Given the description of an element on the screen output the (x, y) to click on. 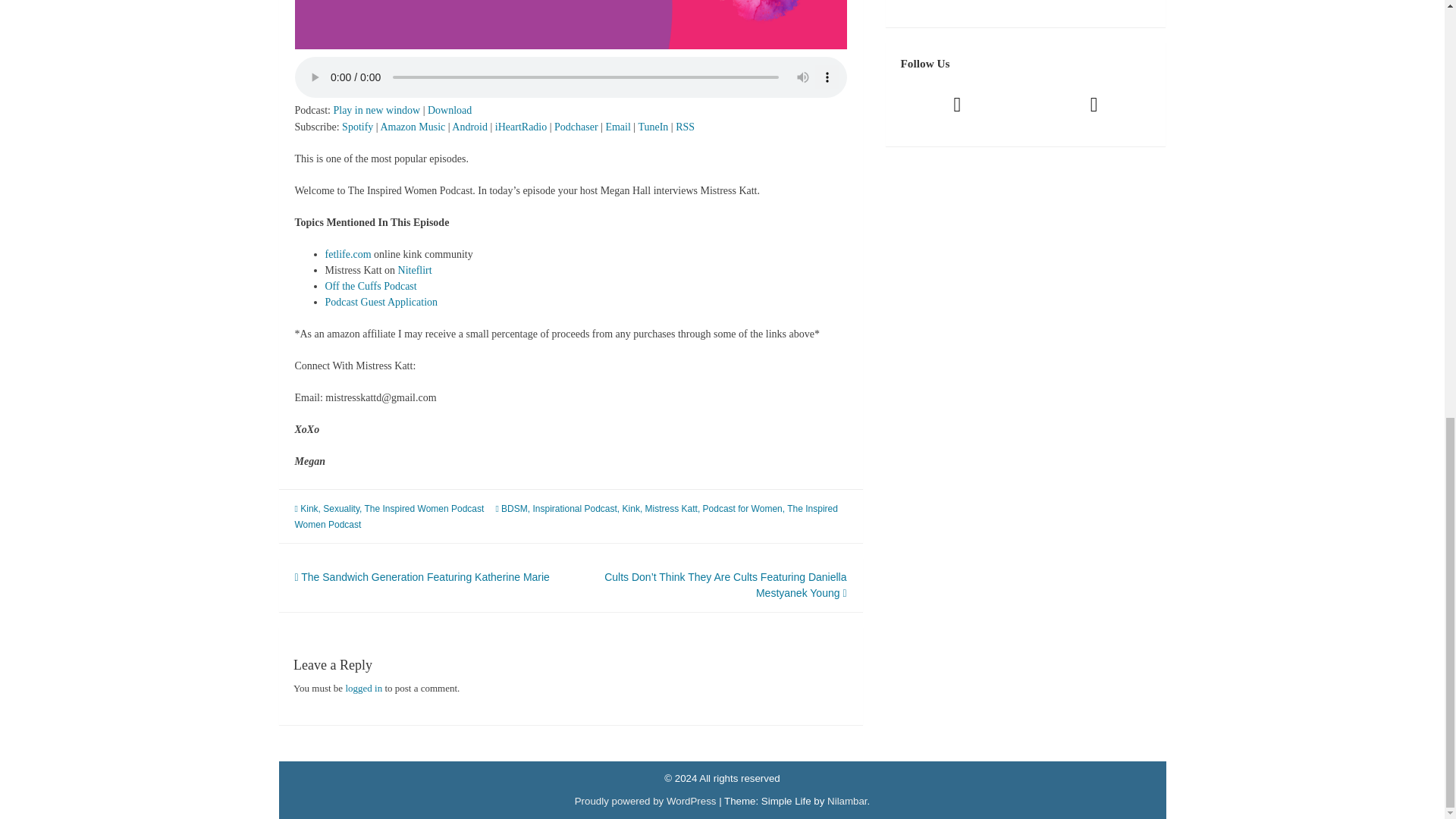
Subscribe on Podchaser (576, 126)
Subscribe via RSS (684, 126)
Play in new window (376, 110)
Spotify (357, 126)
Podchaser (576, 126)
Download (449, 110)
Inspirational Podcast (573, 508)
Play in new window (376, 110)
Subscribe by Email (617, 126)
iHeartRadio (521, 126)
